Given the description of an element on the screen output the (x, y) to click on. 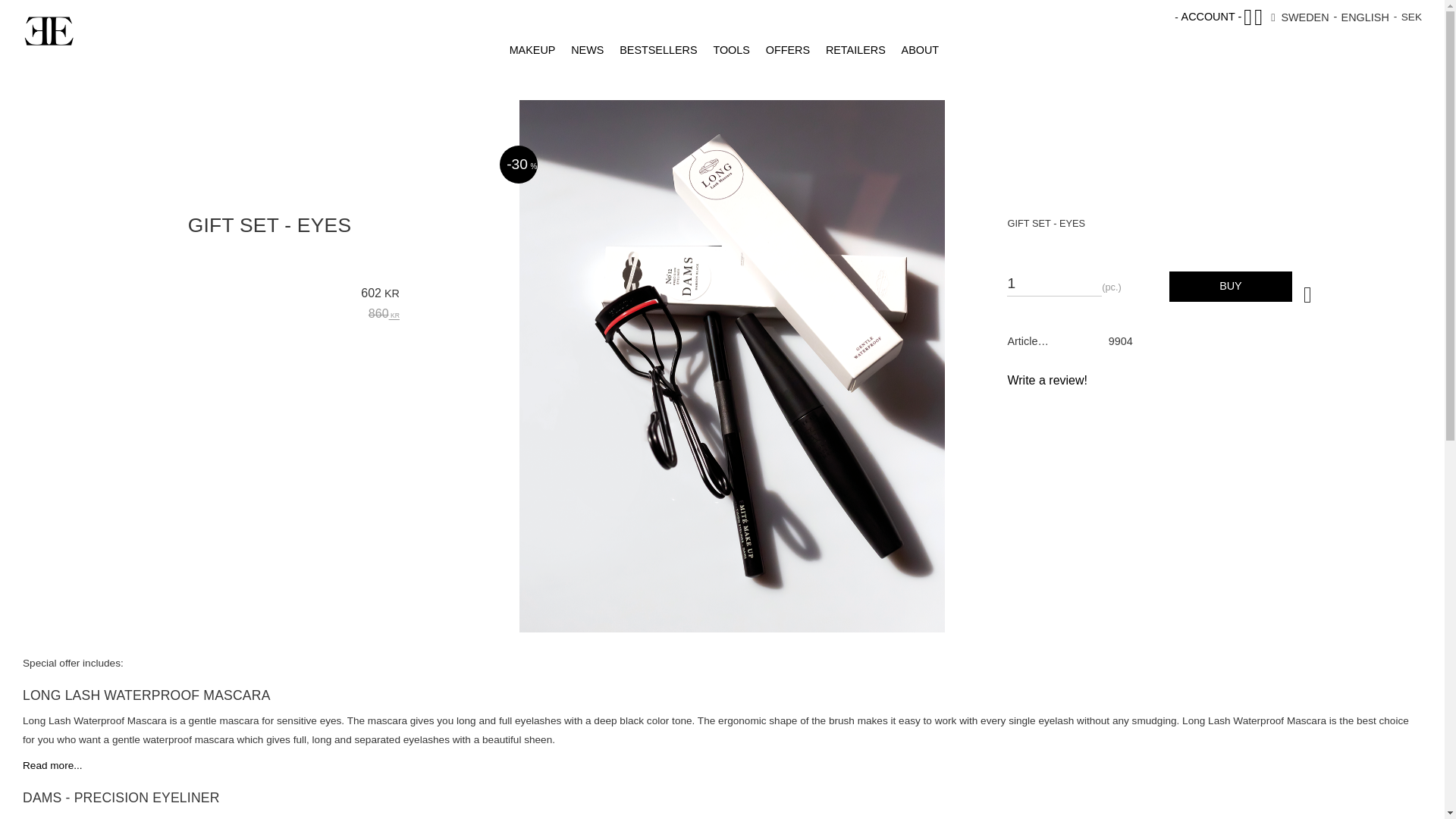
ACCOUNT - (1210, 16)
RETAILERS (853, 50)
ABOUT (917, 50)
BESTSELLERS (656, 50)
MAKEUP (530, 50)
OFFERS (785, 50)
MAKEUP (530, 50)
1 (1054, 279)
NEWS (585, 50)
TOOLS (729, 50)
